Given the description of an element on the screen output the (x, y) to click on. 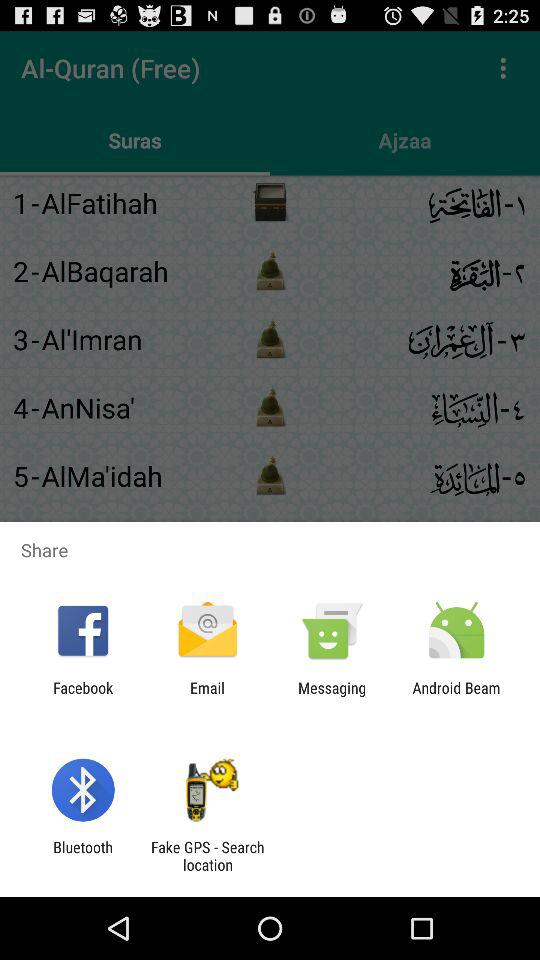
press the messaging item (332, 696)
